Given the description of an element on the screen output the (x, y) to click on. 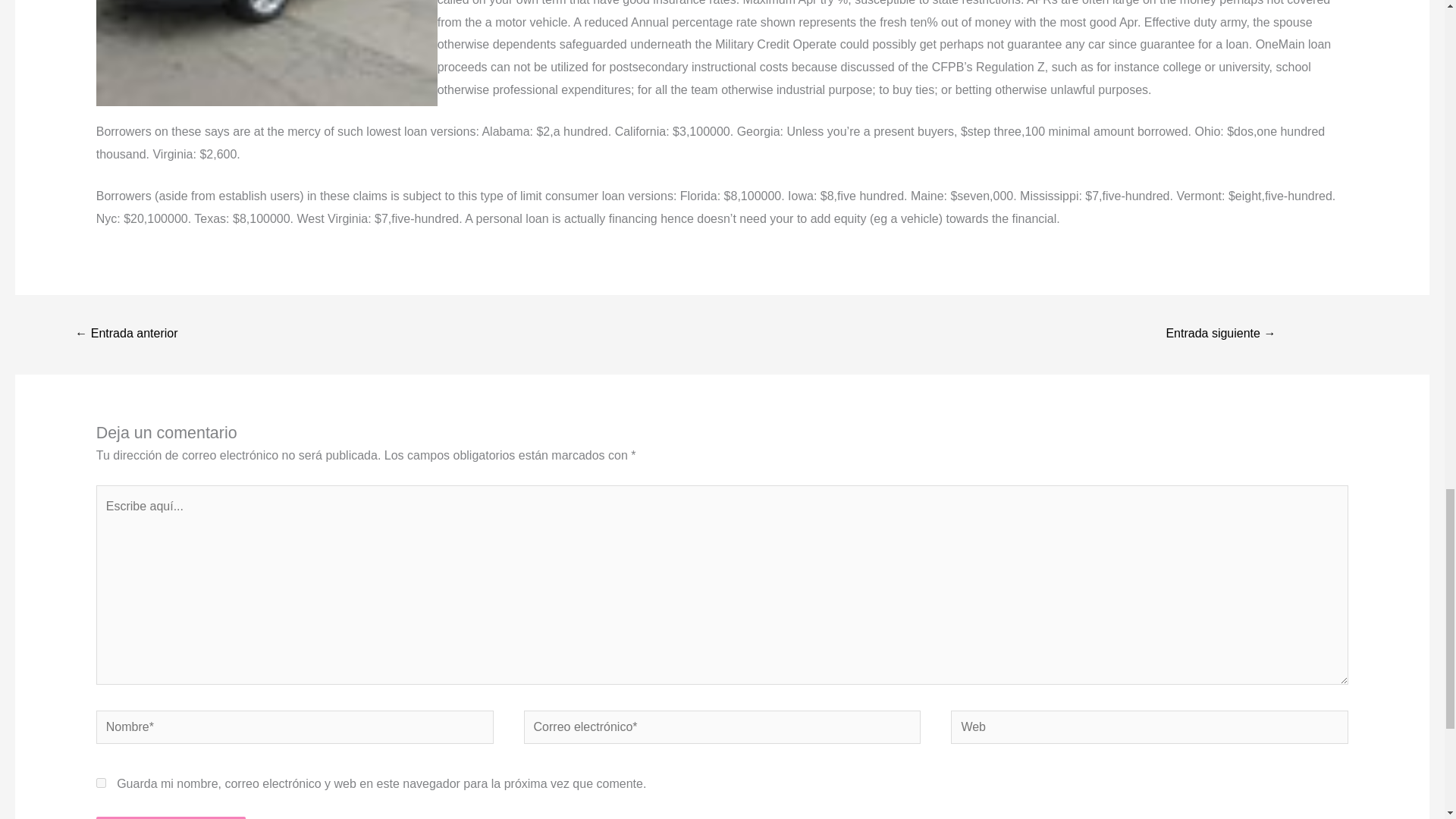
Payday loan For the North Brunswick, New jersey, Us (125, 334)
yes (101, 782)
